Given the description of an element on the screen output the (x, y) to click on. 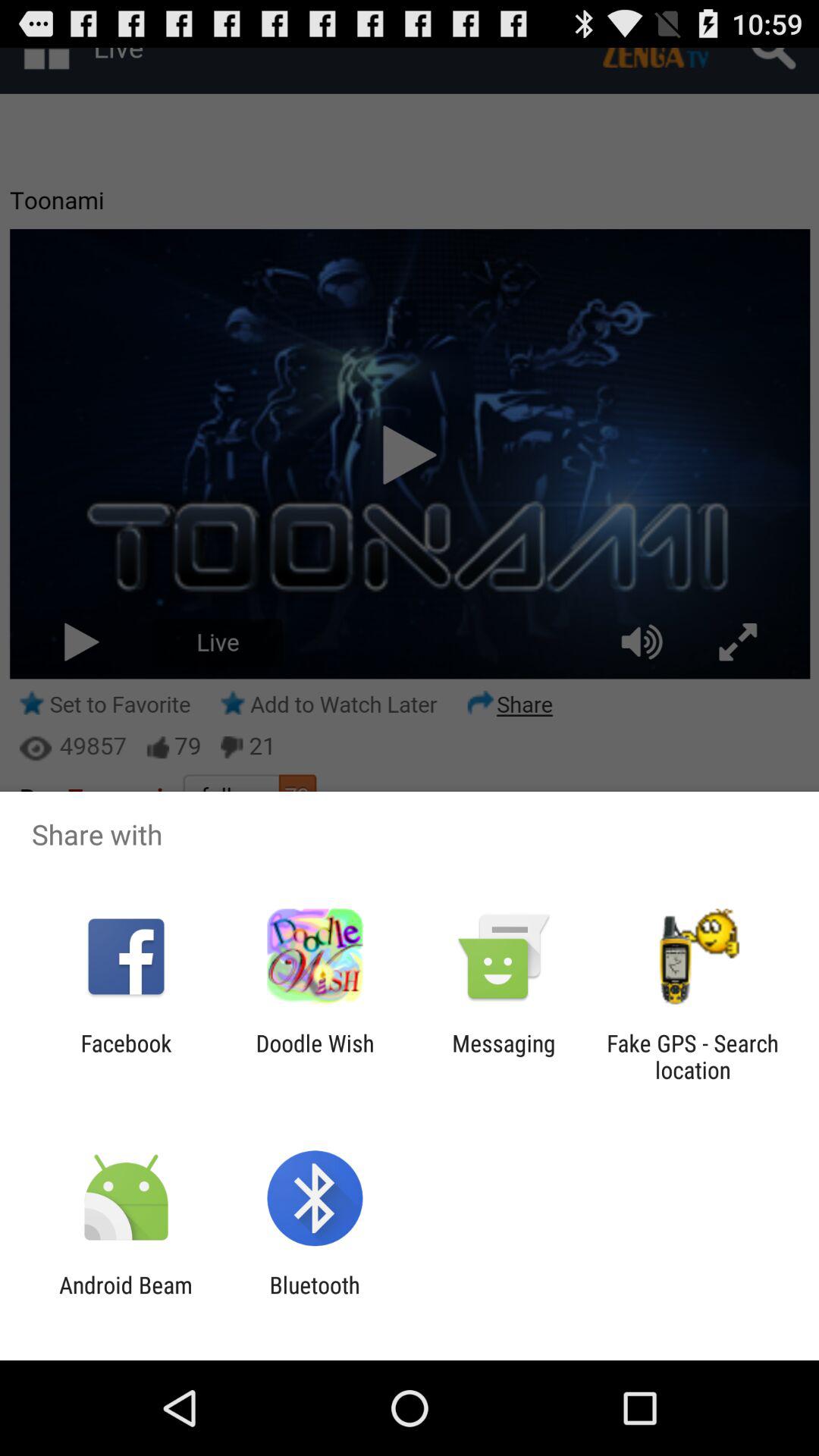
press app to the right of the doodle wish item (503, 1056)
